Given the description of an element on the screen output the (x, y) to click on. 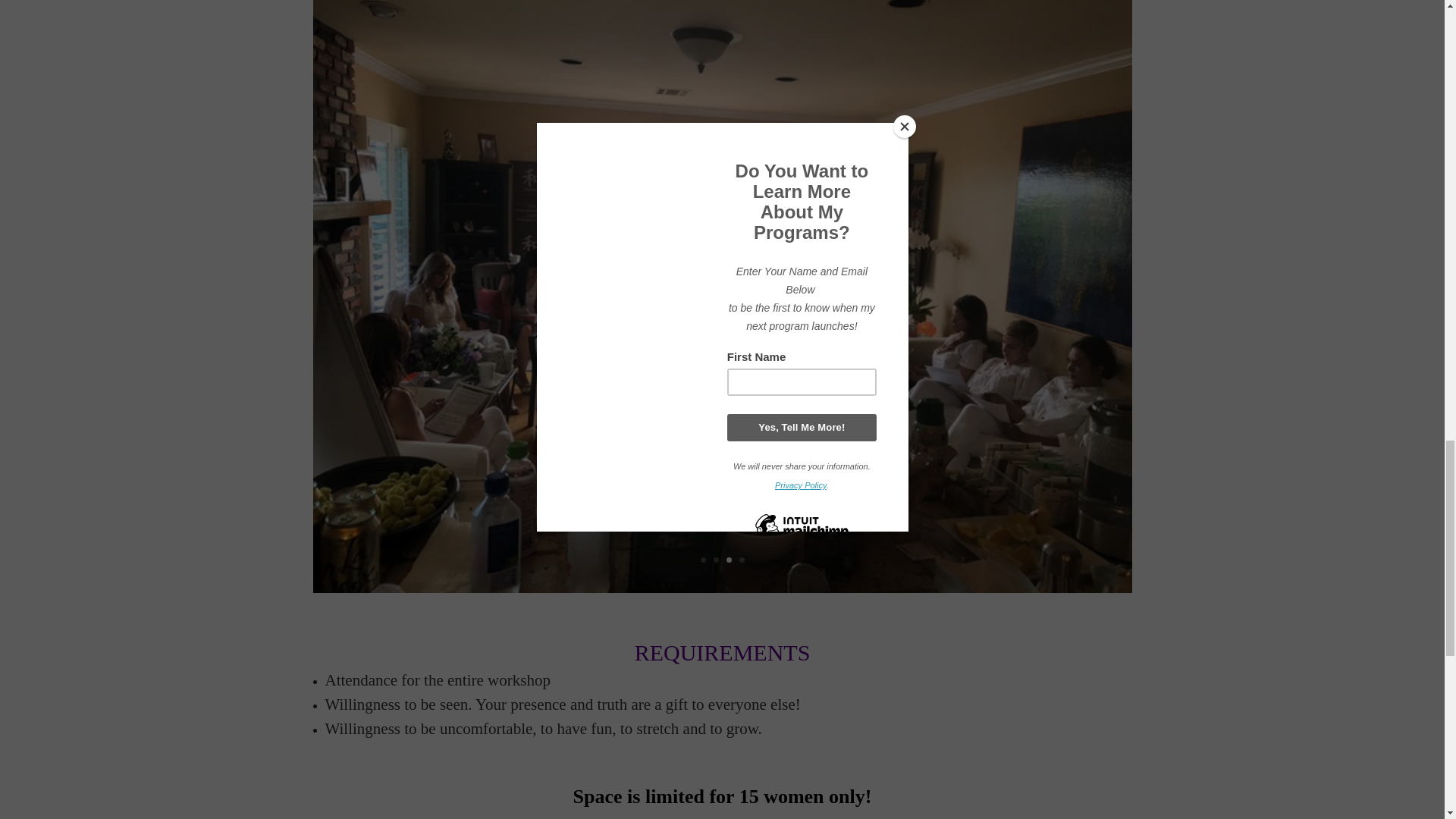
2018-06-10-PHOTO-00000007-5 (722, 588)
